Given the description of an element on the screen output the (x, y) to click on. 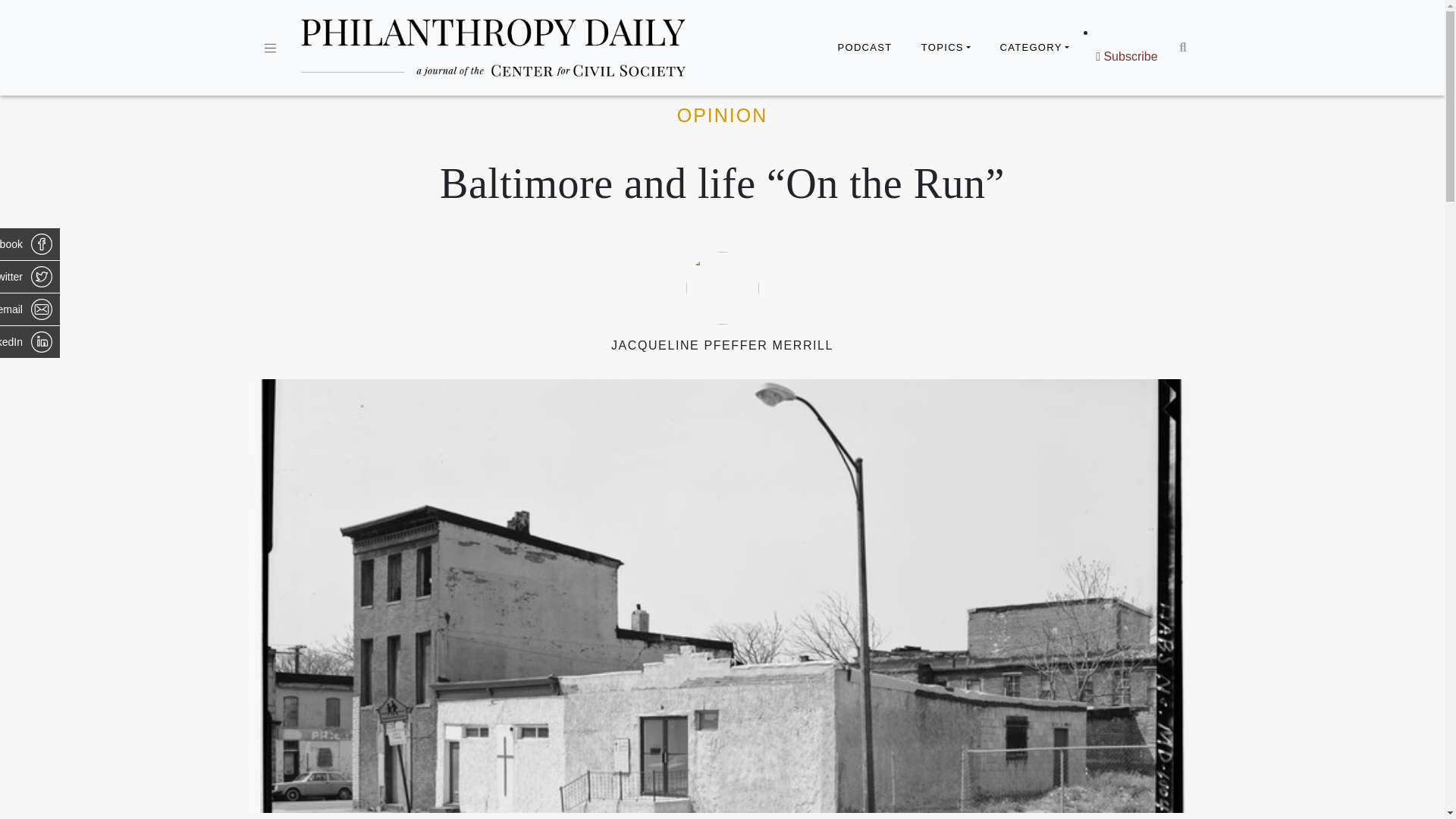
  Share on Facebook (29, 244)
Share on Twitter (29, 276)
PODCAST (864, 47)
Share on LinkedIn (29, 341)
TOPICS (945, 47)
Share via email (29, 309)
